Given the description of an element on the screen output the (x, y) to click on. 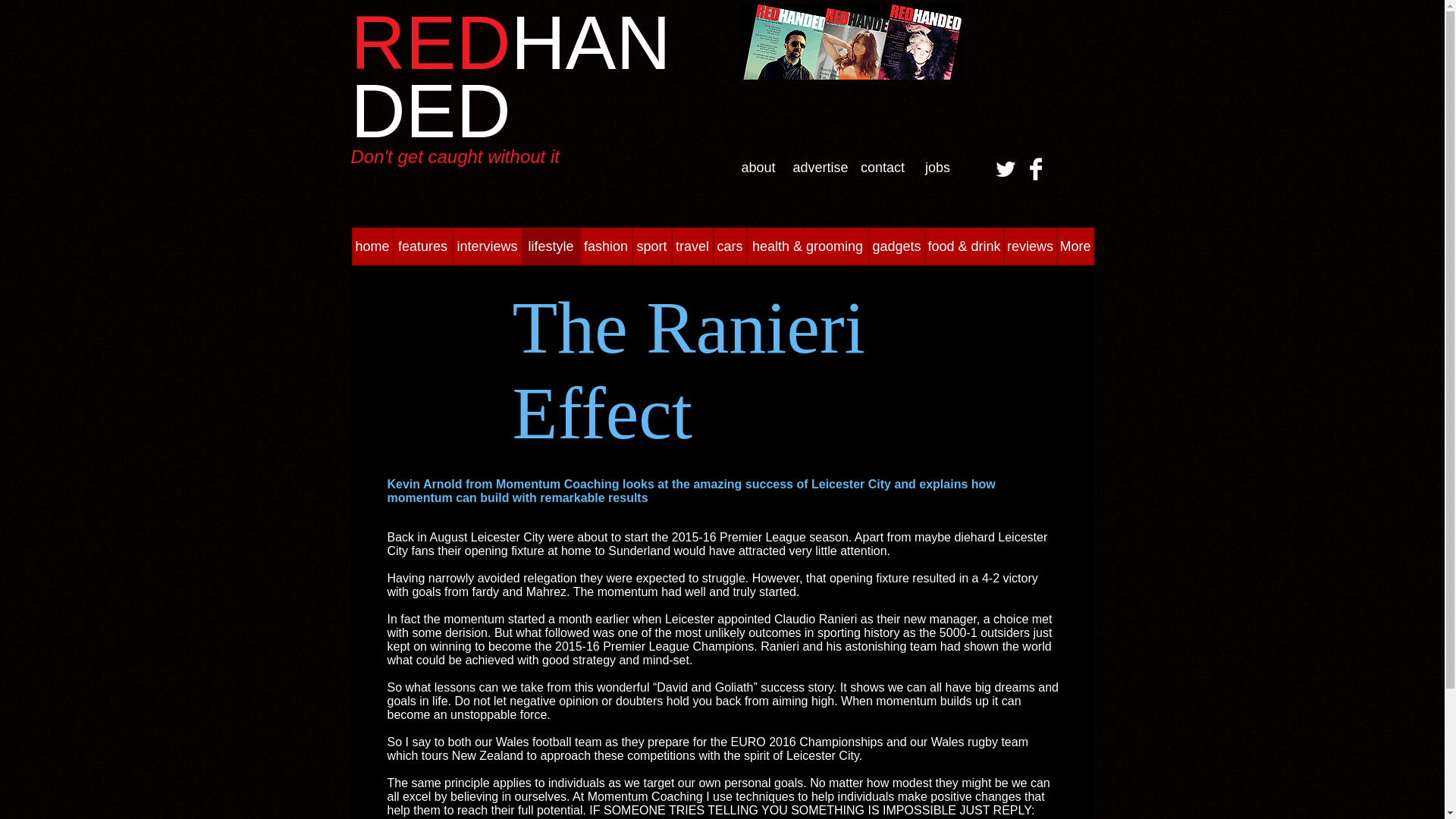
interviews (486, 246)
home (372, 246)
about (757, 166)
Don't get caught without it (454, 156)
jobs (937, 166)
REDHANDED (509, 76)
contact (882, 166)
advertise (820, 166)
features (422, 246)
